Given the description of an element on the screen output the (x, y) to click on. 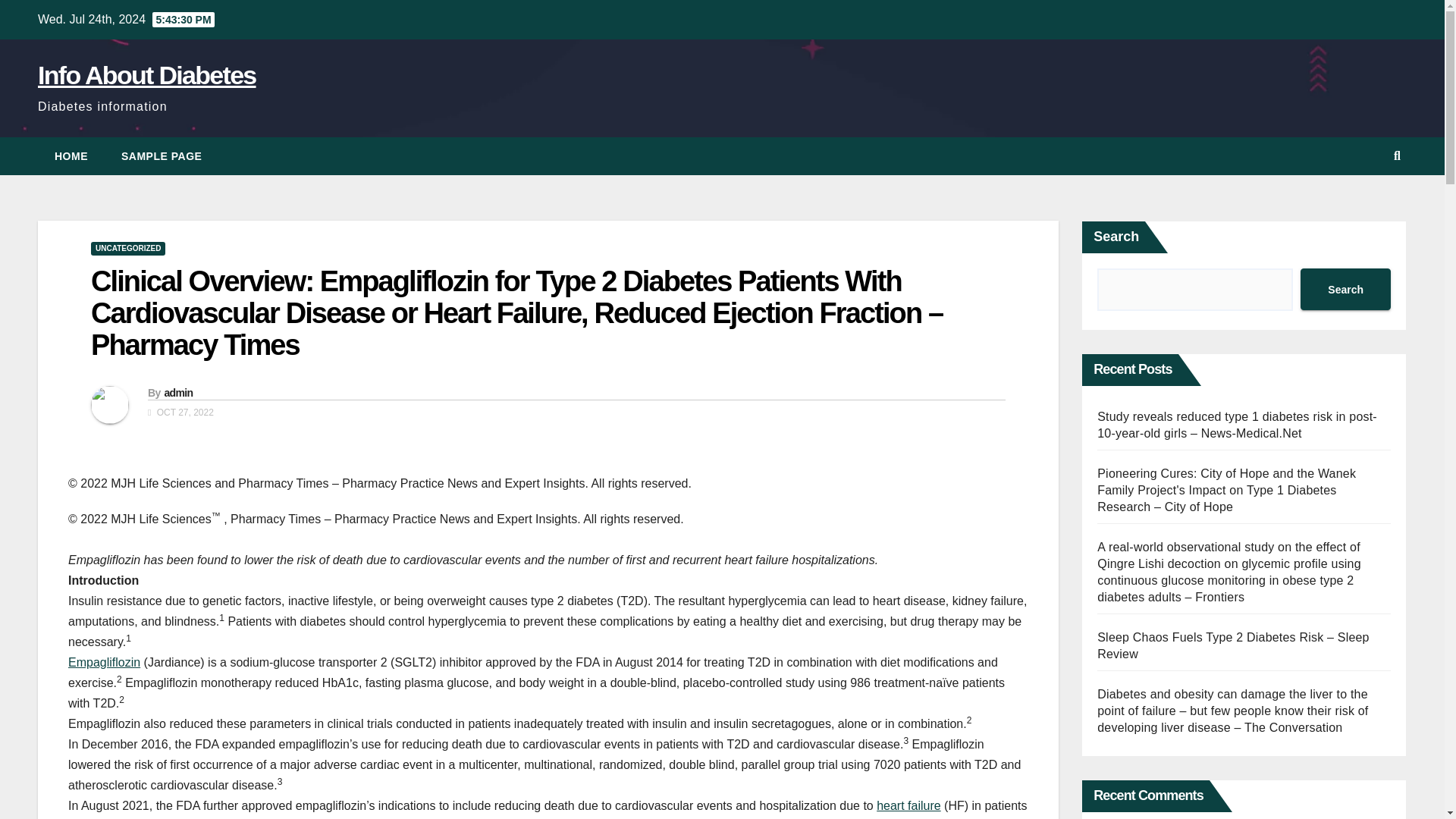
Home (70, 156)
admin (177, 392)
Info About Diabetes (146, 74)
heart failure (908, 805)
HOME (70, 156)
SAMPLE PAGE (161, 156)
Empagliflozin (103, 662)
UNCATEGORIZED (127, 248)
